Given the description of an element on the screen output the (x, y) to click on. 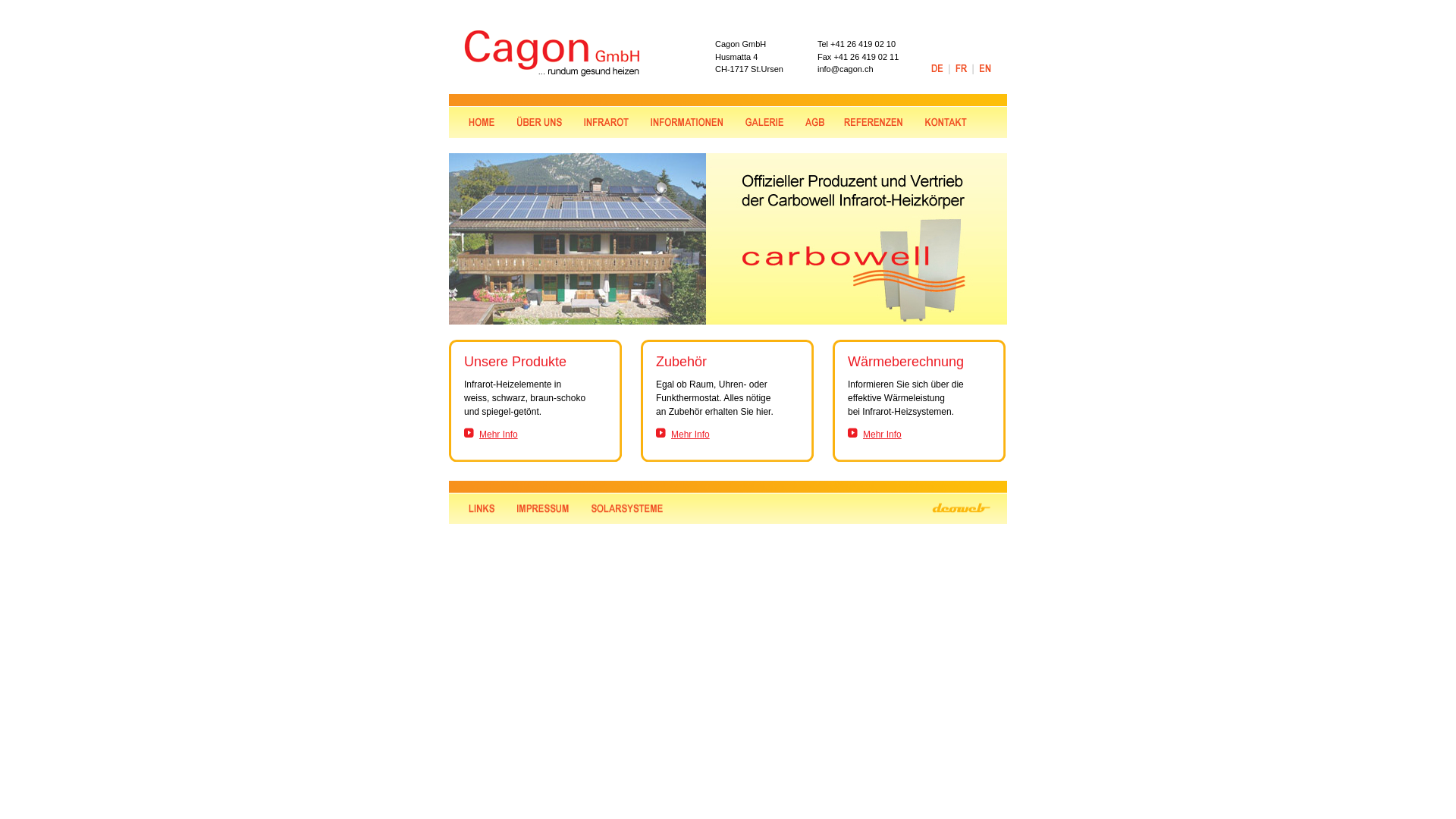
Mehr Info Element type: text (690, 434)
Mehr Info Element type: text (498, 434)
Mehr Info Element type: text (881, 434)
